Given the description of an element on the screen output the (x, y) to click on. 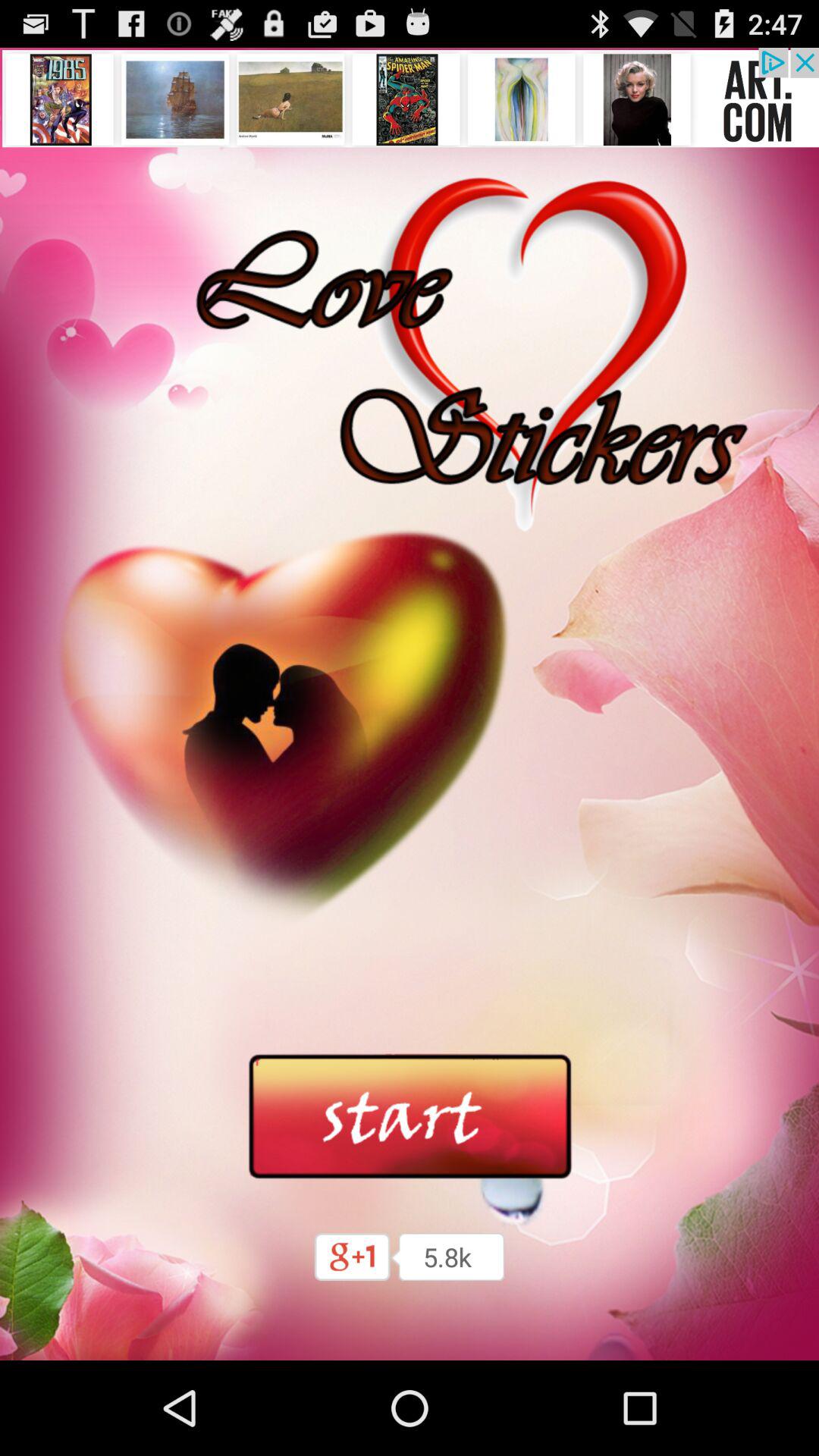
go to advertisement (409, 97)
